Given the description of an element on the screen output the (x, y) to click on. 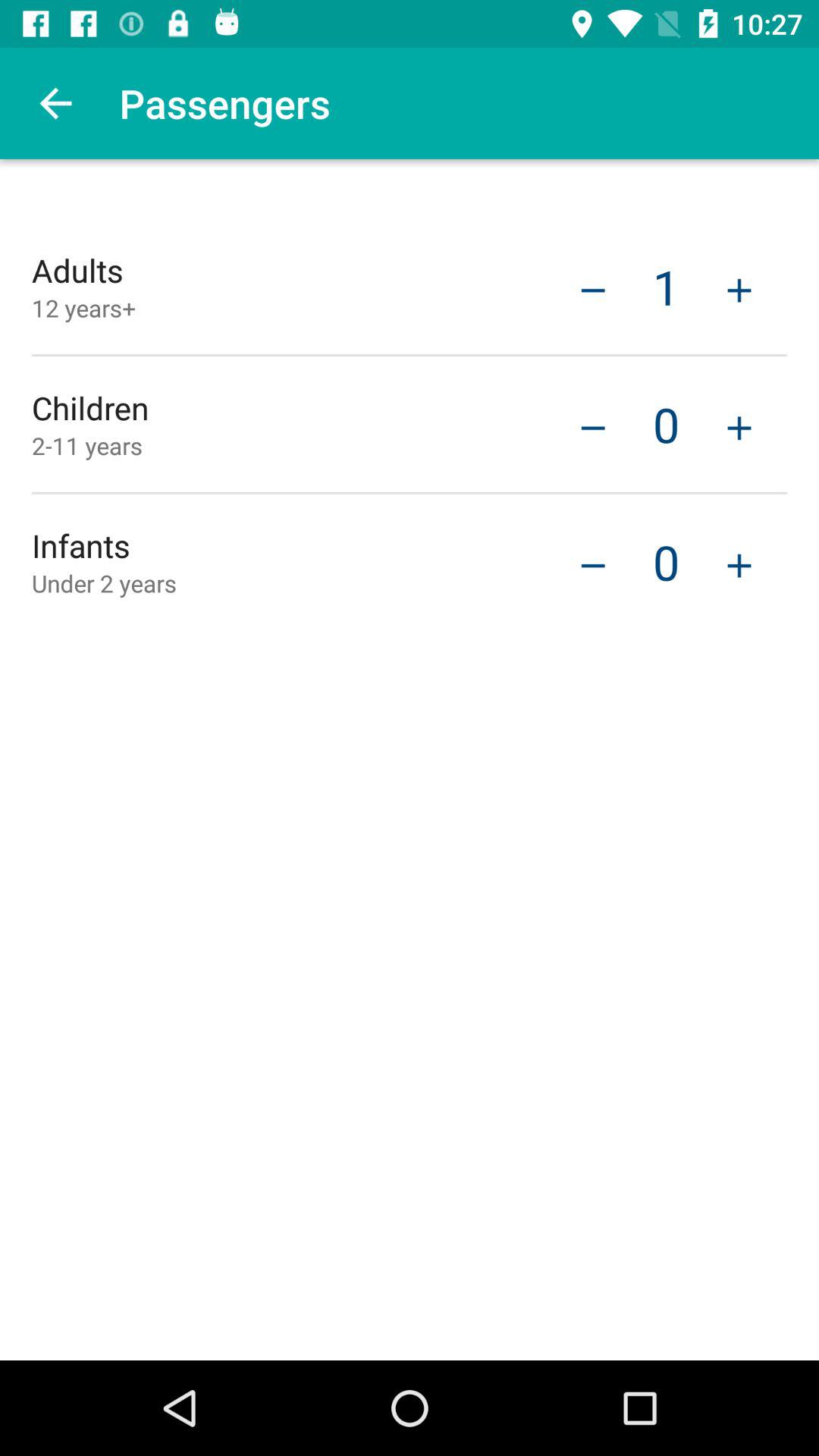
turn off the icon to the left of passengers (55, 103)
